Given the description of an element on the screen output the (x, y) to click on. 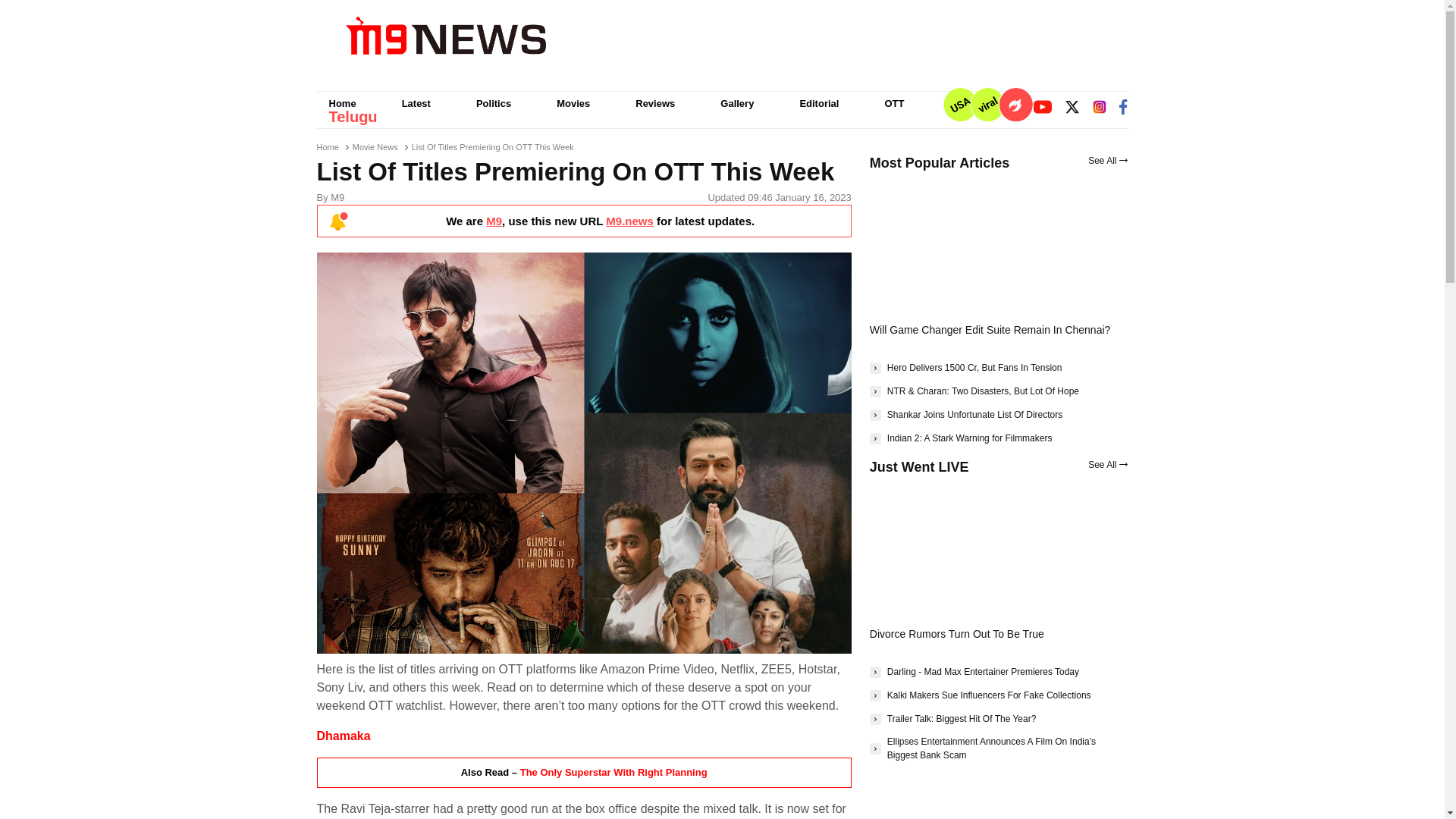
Telugu (353, 116)
Politics (493, 102)
OTT (893, 102)
Reviews (655, 102)
Home (328, 146)
Latest (416, 102)
M9 (494, 220)
Movie News (374, 146)
Will Game Changer Edit Suite Remain In Chennai? (989, 329)
See All (1106, 160)
Shankar Joins Unfortunate List Of Directors (965, 414)
Dhamaka (344, 735)
M9.news (629, 220)
Hero Delivers 1500 Cr, But Fans In Tension (965, 367)
Gallery (736, 102)
